Given the description of an element on the screen output the (x, y) to click on. 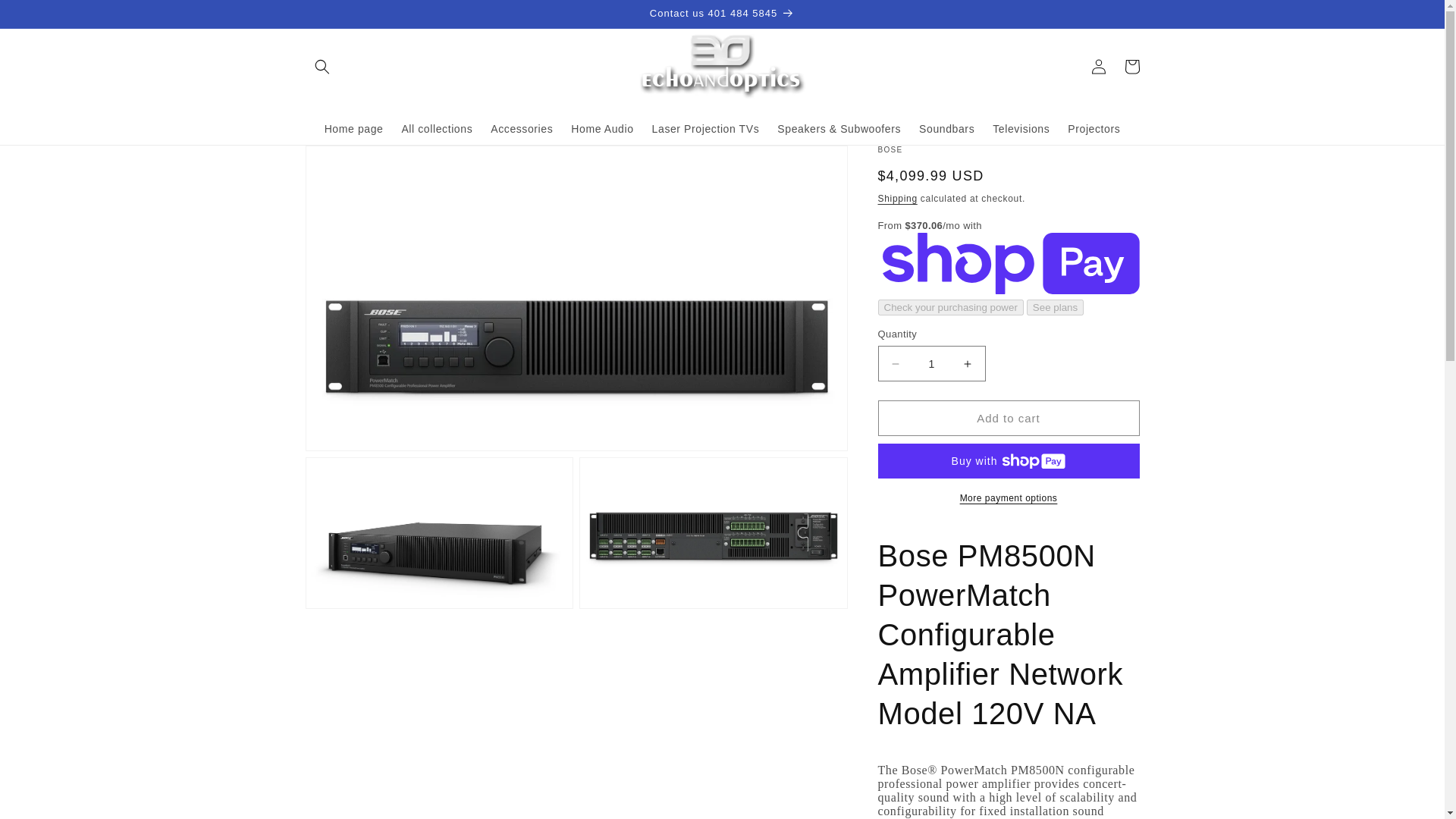
Projectors (1093, 128)
Home Audio (602, 128)
Log in (1098, 66)
Cart (1131, 66)
Skip to content (45, 17)
1 (931, 363)
Accessories (521, 128)
Televisions (1021, 128)
Laser Projection TVs (705, 128)
Home page (354, 128)
